Given the description of an element on the screen output the (x, y) to click on. 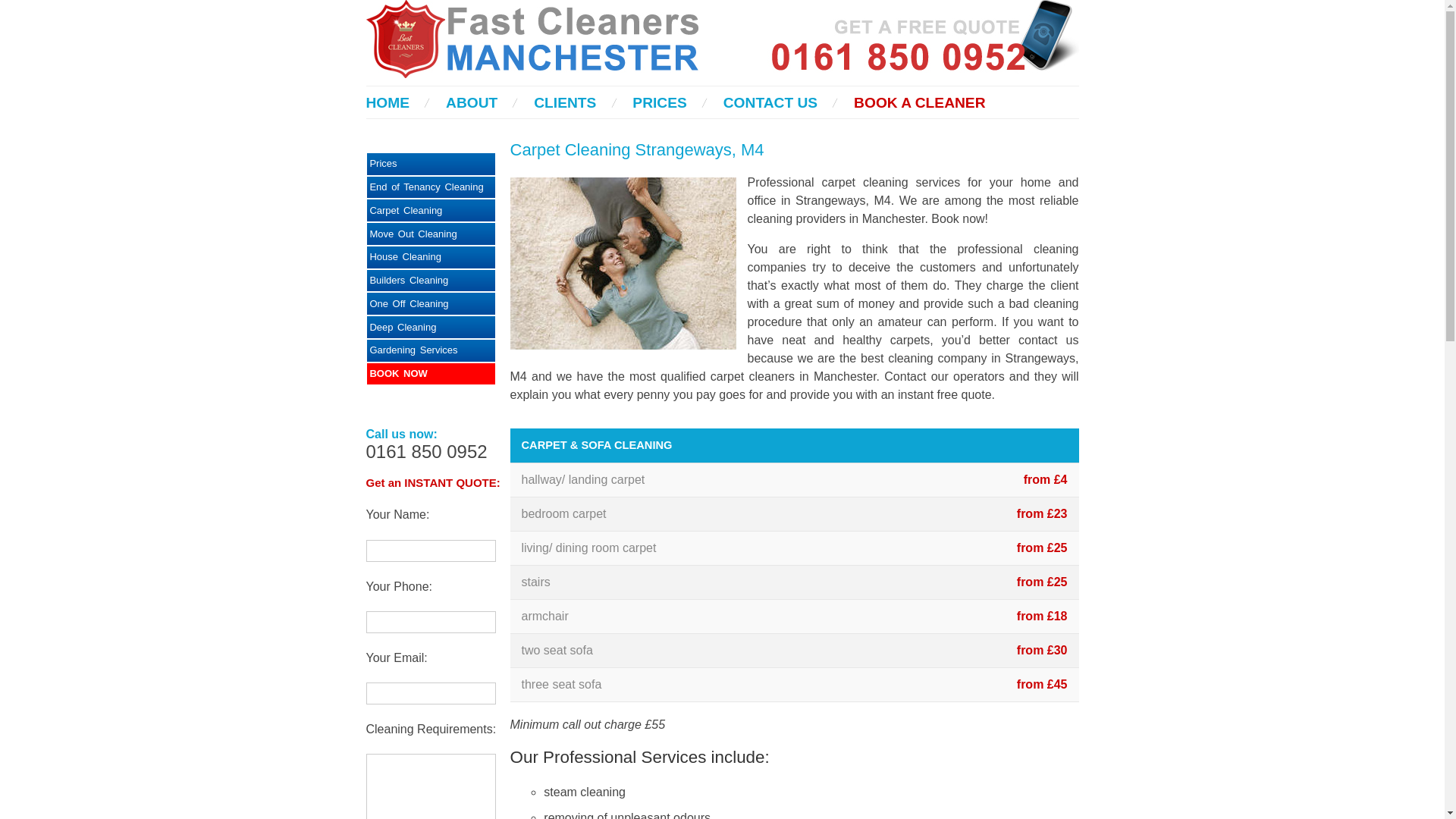
House Cleaning (430, 257)
Carpet Cleaning Service (430, 210)
Prices (430, 164)
Deep Cleaning Service (430, 350)
HOME (387, 102)
CLIENTS (564, 102)
ABOUT (471, 102)
CONTACT US (769, 102)
Deep Cleaning Service (430, 327)
PRICES (658, 102)
Prices (430, 164)
BOOK A CLEANER (919, 102)
One Off Cleaning (430, 303)
Deep Cleaning (430, 327)
House Cleaning Service (430, 257)
